Given the description of an element on the screen output the (x, y) to click on. 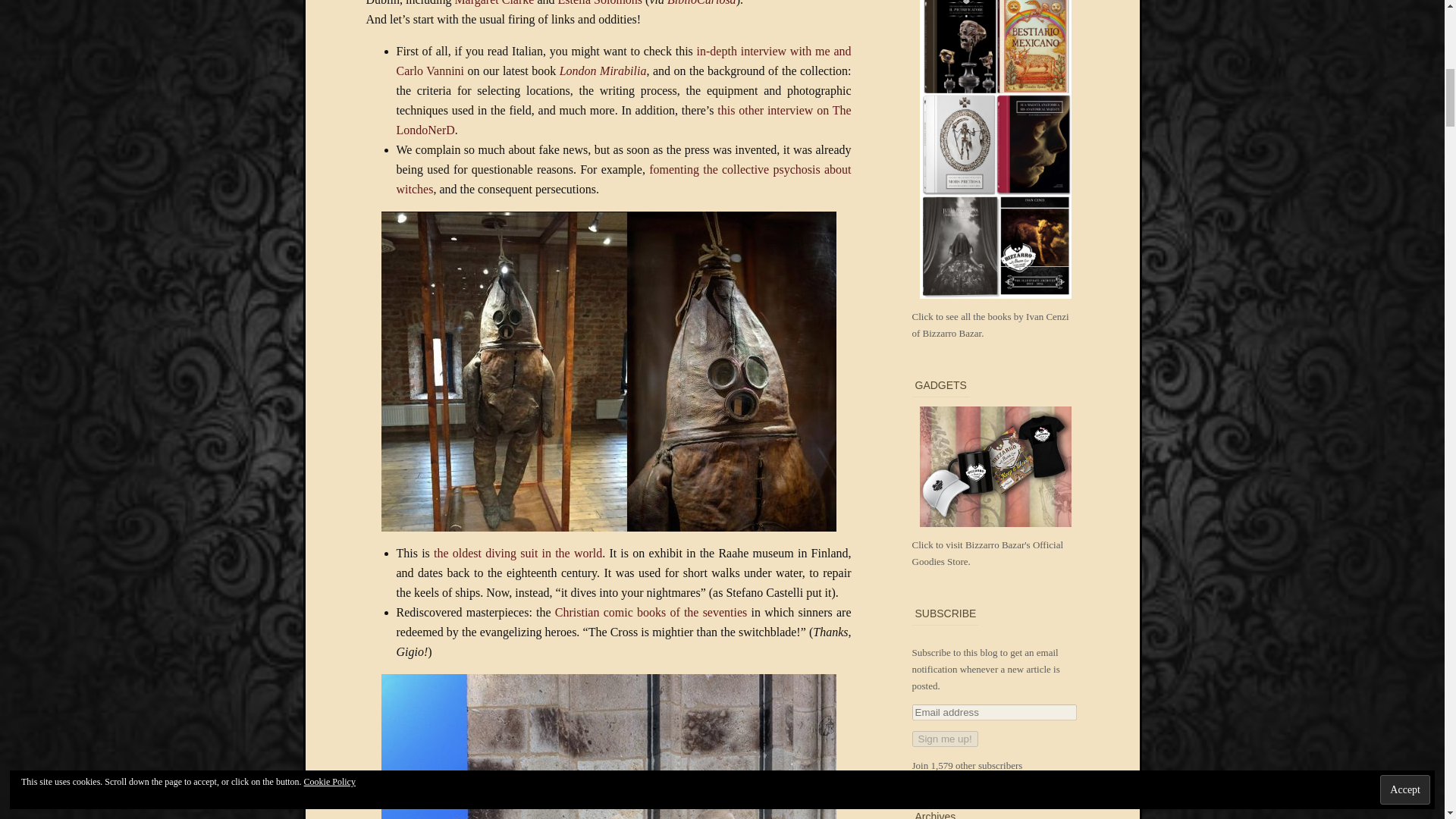
the oldest diving suit in the world (517, 553)
fomenting the collective psychosis about witches (623, 178)
in-depth interview with me and Carlo Vannini (623, 60)
Christian comic books of the seventies (651, 612)
BiblioCuriosa (701, 2)
London Mirabilia (602, 70)
Estella Solomons (600, 2)
Margaret Clarke (494, 2)
this other interview on The LondoNerD (623, 120)
